Given the description of an element on the screen output the (x, y) to click on. 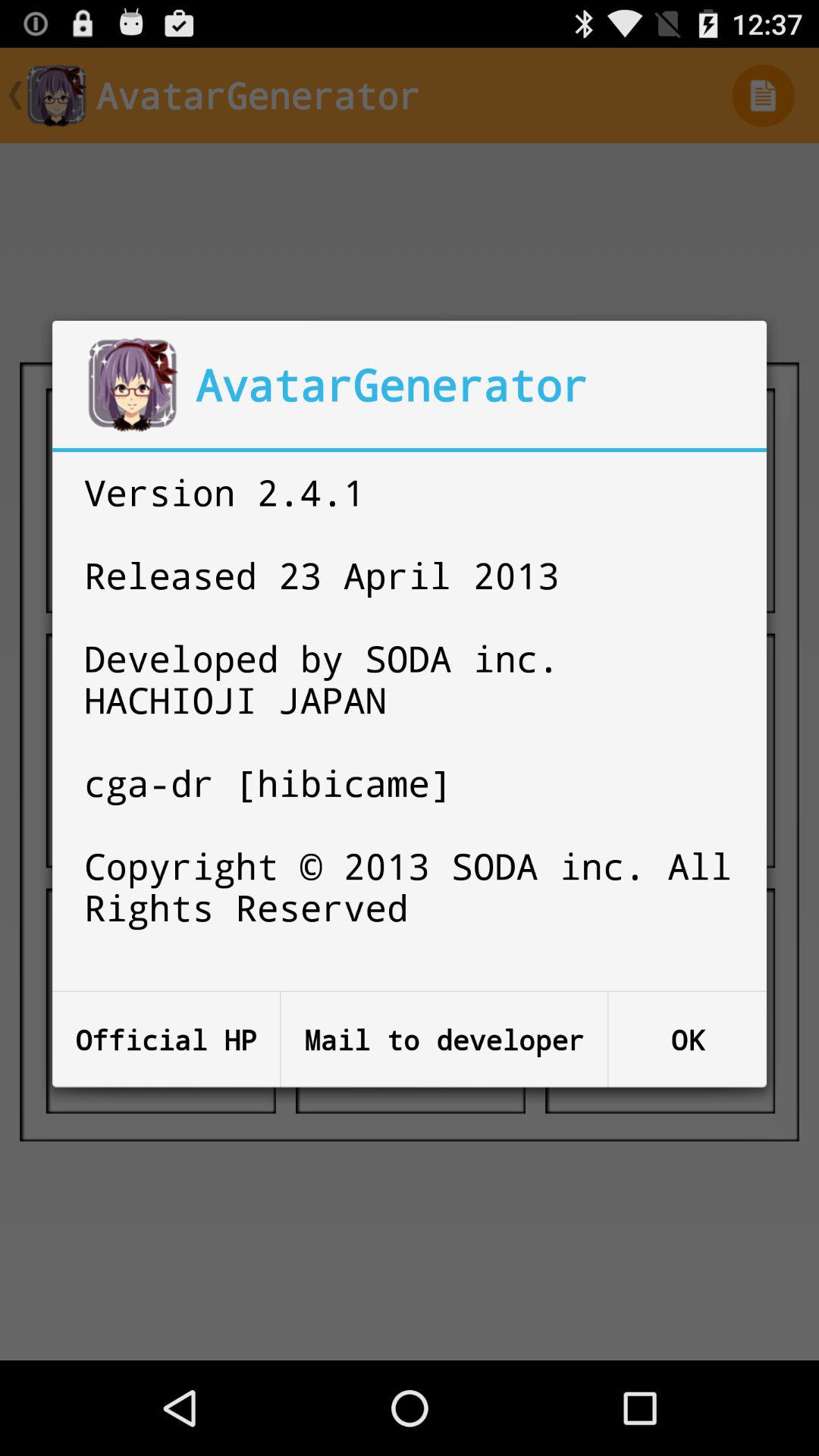
press button next to ok (443, 1039)
